Given the description of an element on the screen output the (x, y) to click on. 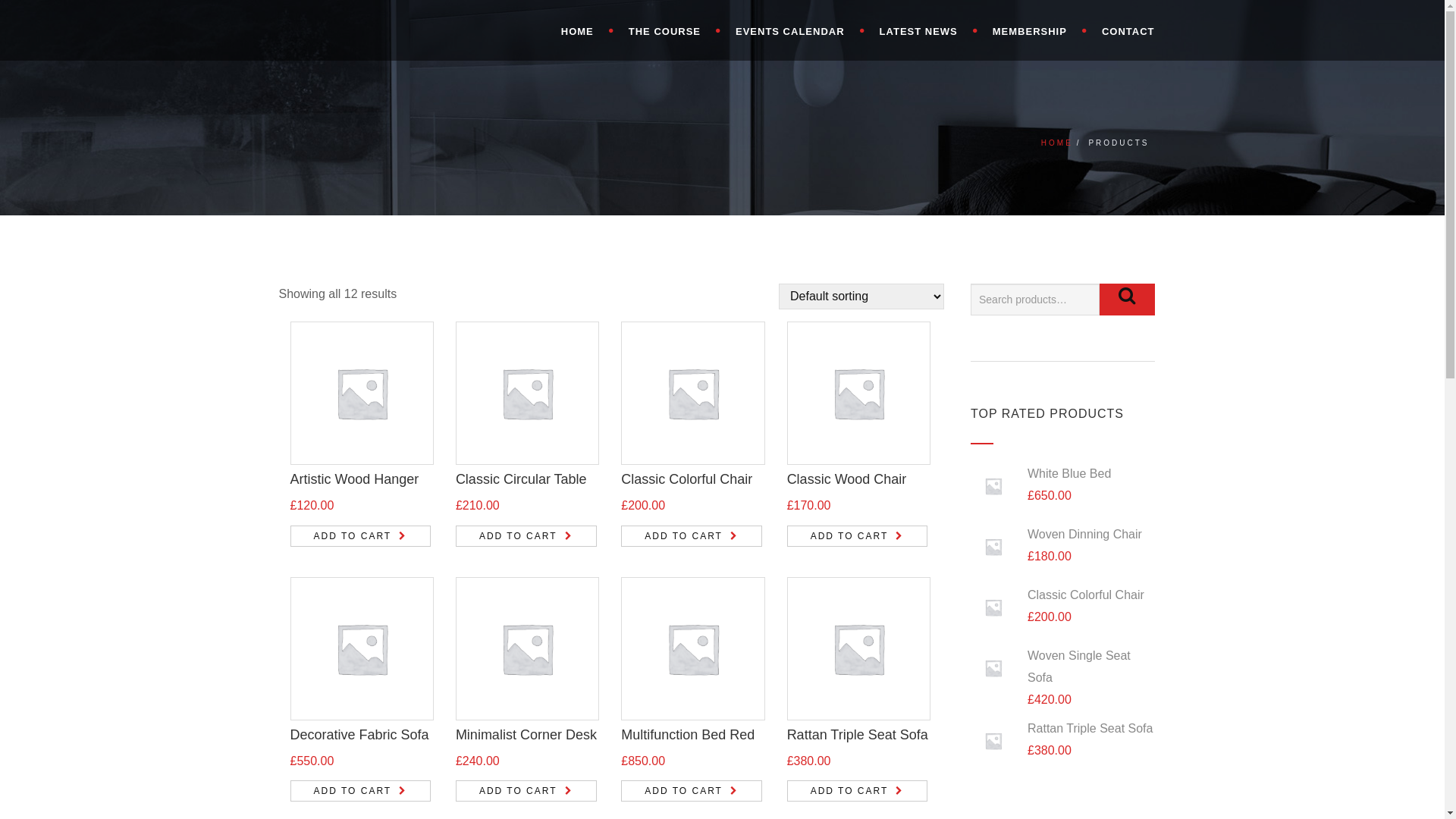
Classic Wood Chair Element type: text (846, 478)
HOME Element type: text (579, 30)
ADD TO CART Element type: text (359, 535)
woocommerce-placeholder Element type: hover (361, 392)
woocommerce-placeholder Element type: hover (993, 485)
ADD TO CART Element type: text (691, 790)
Woven Single Seat Sofa Element type: text (1062, 667)
woocommerce-placeholder Element type: hover (527, 648)
Decorative Fabric Sofa Element type: text (358, 734)
Rattan Triple Seat Sofa Element type: text (857, 734)
woocommerce-placeholder Element type: hover (692, 648)
ADD TO CART Element type: text (525, 535)
woocommerce-placeholder Element type: hover (527, 392)
Multifunction Bed Red Element type: text (687, 734)
LATEST NEWS Element type: text (920, 30)
woocommerce-placeholder Element type: hover (993, 667)
THE COURSE Element type: text (666, 30)
woocommerce-placeholder Element type: hover (993, 740)
EVENTS CALENDAR Element type: text (792, 30)
MEMBERSHIP Element type: text (1031, 30)
Classic Colorful Chair Element type: text (686, 478)
ADD TO CART Element type: text (525, 790)
woocommerce-placeholder Element type: hover (361, 648)
Rattan Triple Seat Sofa Element type: text (1062, 729)
Classic Colorful Chair Element type: text (1062, 595)
woocommerce-placeholder Element type: hover (858, 392)
ADD TO CART Element type: text (691, 535)
woocommerce-placeholder Element type: hover (858, 648)
woocommerce-placeholder Element type: hover (993, 546)
ADD TO CART Element type: text (857, 790)
White Blue Bed Element type: text (1062, 474)
ADD TO CART Element type: text (857, 535)
Minimalist Corner Desk Element type: text (525, 734)
ADD TO CART Element type: text (359, 790)
Artistic Wood Hanger Element type: text (353, 478)
Classic Circular Table Element type: text (520, 478)
woocommerce-placeholder Element type: hover (993, 607)
CONTACT Element type: text (1120, 30)
Woven Dinning Chair Element type: text (1062, 535)
HOME Element type: text (1057, 142)
woocommerce-placeholder Element type: hover (692, 392)
